Given the description of an element on the screen output the (x, y) to click on. 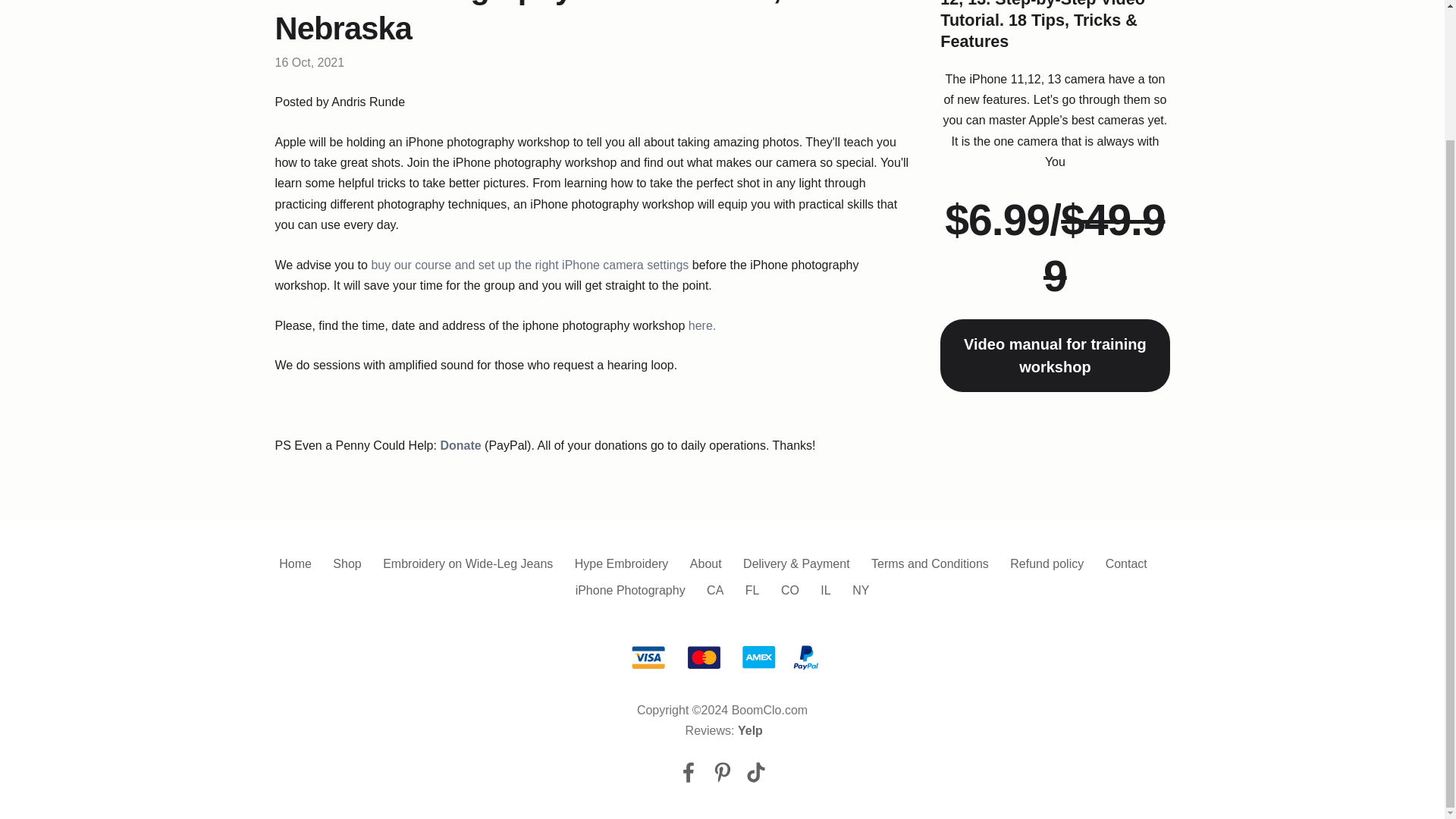
NY (860, 590)
Hype Embroidery (621, 563)
Terms and Conditions (929, 563)
Video manual for training workshop (1054, 355)
buy our course and set up the right iPhone camera settings (529, 264)
iPhone Photography (630, 590)
CA (714, 590)
Refund policy (1046, 563)
Shop (347, 563)
Donate (459, 445)
Home (295, 563)
here. (702, 325)
iPhone Photography Class Omaha, Nebraska (527, 22)
Embroidery on Wide-Leg Jeans (467, 563)
FL (752, 590)
